Given the description of an element on the screen output the (x, y) to click on. 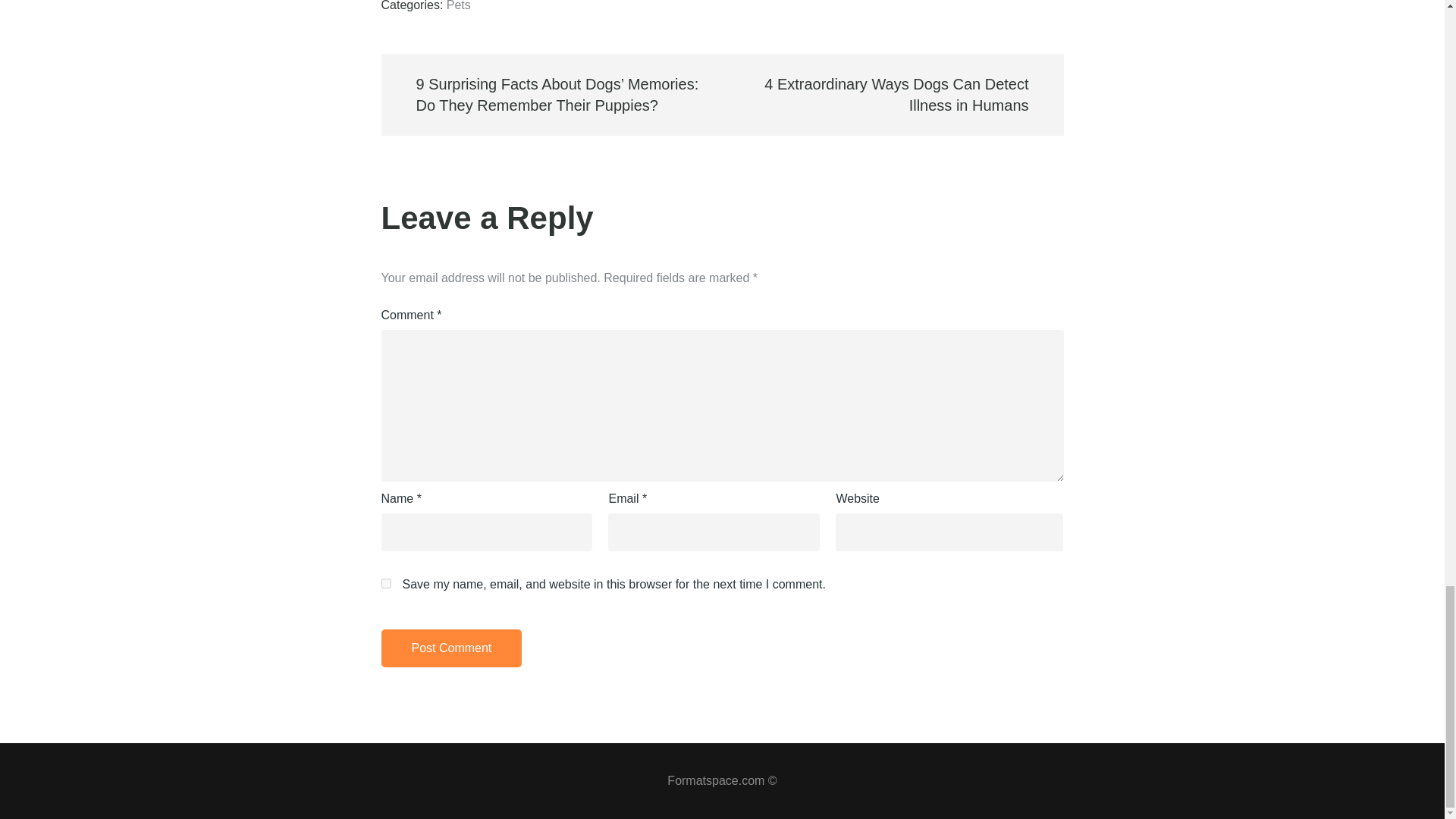
Pets (458, 5)
Post Comment (450, 648)
Post Comment (450, 648)
yes (385, 583)
